Given the description of an element on the screen output the (x, y) to click on. 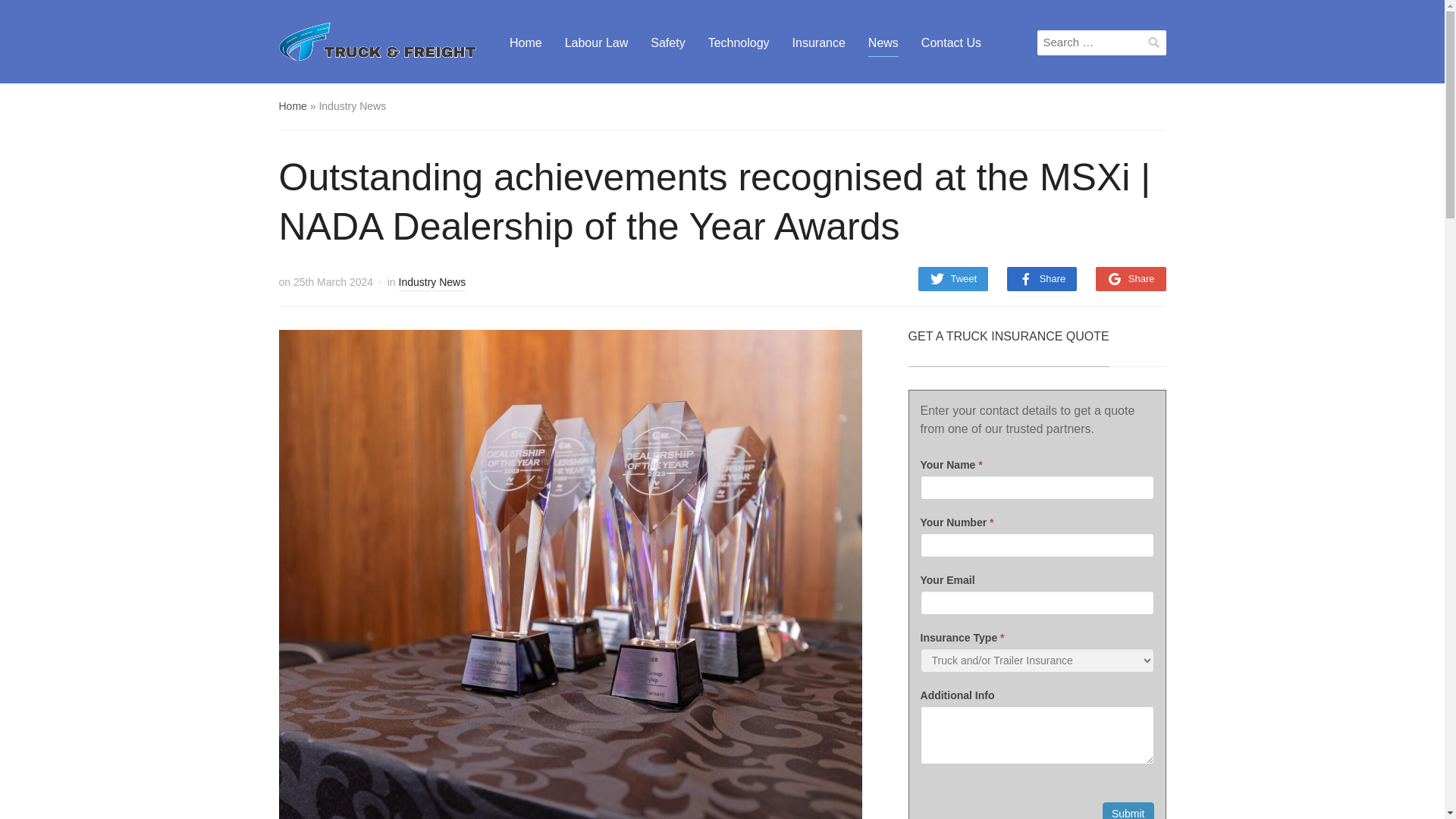
Contact Us (951, 43)
Search (1154, 42)
Tweet this on Twitter (952, 278)
Labour Law (596, 43)
Search (1154, 42)
Technology (738, 43)
News (882, 43)
Search (1154, 42)
Safety (667, 43)
